Given the description of an element on the screen output the (x, y) to click on. 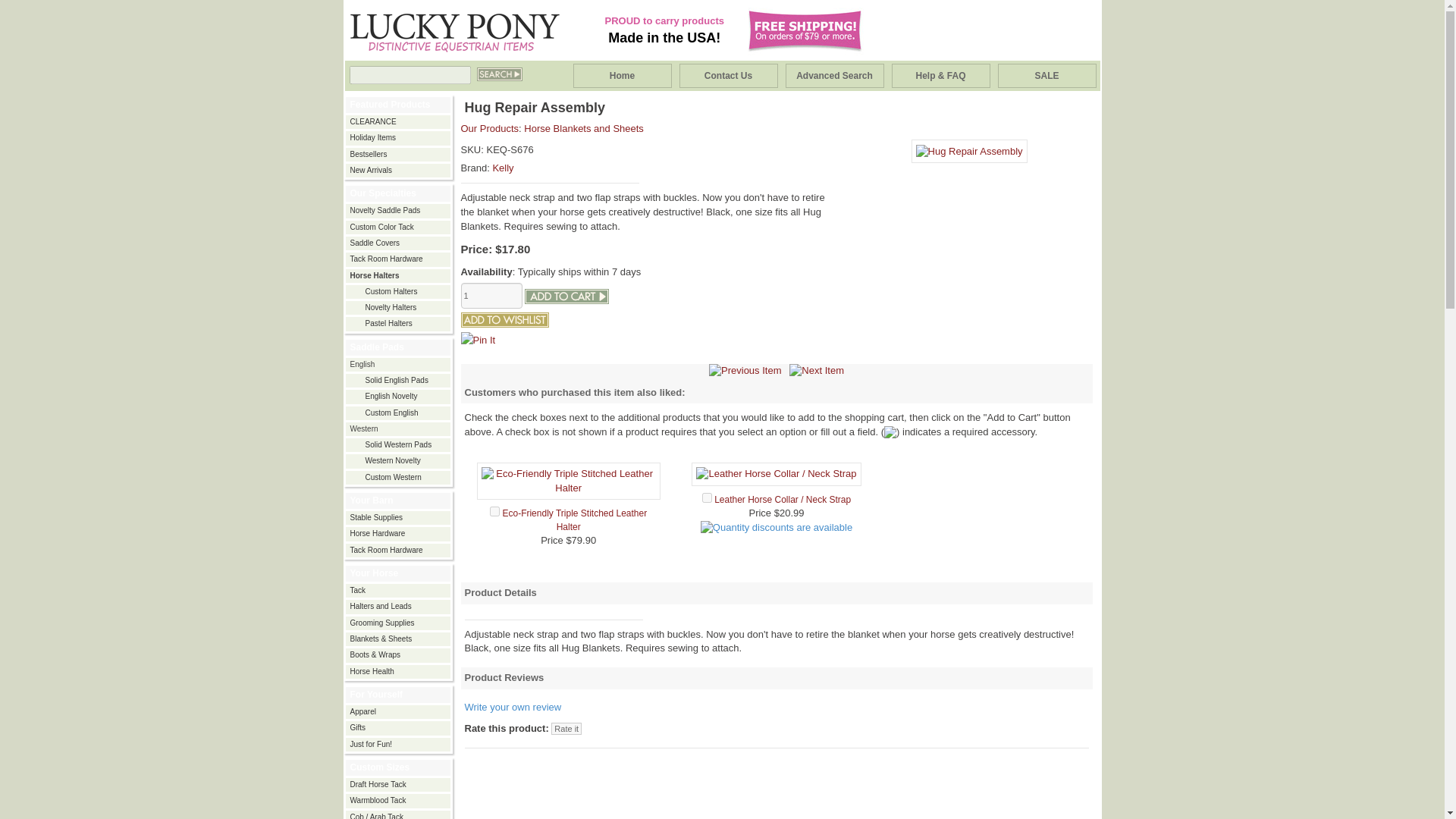
1 (491, 295)
Home (622, 75)
Tack (399, 590)
Custom Western (399, 477)
Stable Supplies (399, 517)
Warmblood Tack (399, 800)
Solid Western Pads (399, 444)
Tack Room Hardware (399, 550)
Tack Room Hardware (399, 258)
Draft Horse Tack (399, 784)
Saddle Covers (399, 243)
Novelty Halters (399, 307)
English Novelty (399, 396)
Contact Us (728, 75)
Horse Health (399, 671)
